Given the description of an element on the screen output the (x, y) to click on. 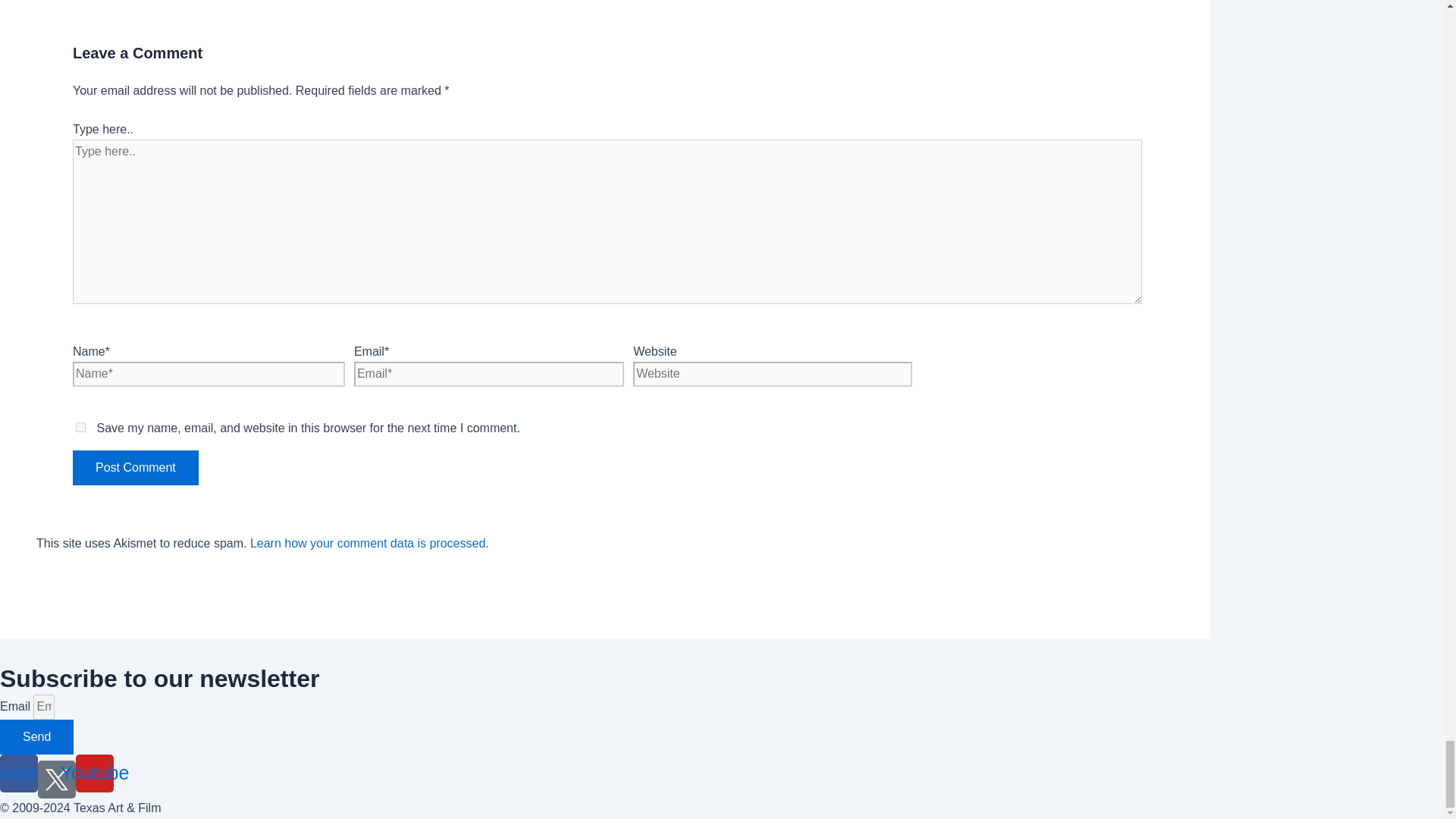
Youtube (94, 773)
Post Comment (135, 467)
Post Comment (135, 467)
Learn how your comment data is processed (367, 543)
yes (80, 427)
Send (37, 736)
Facebook (18, 773)
